Given the description of an element on the screen output the (x, y) to click on. 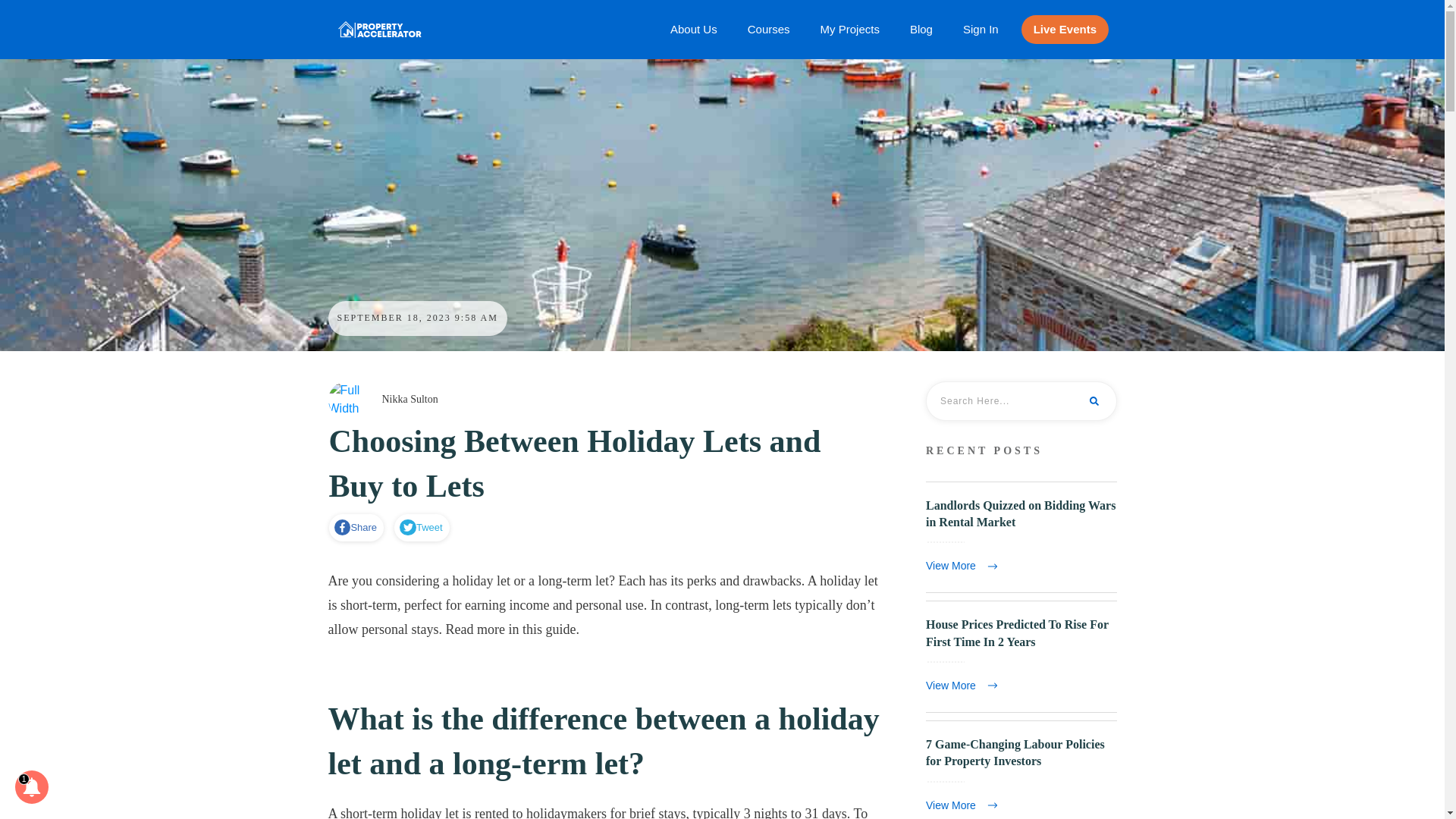
Choosing Between Holiday Lets and Buy to Lets (575, 463)
Courses (769, 29)
Tweet (420, 527)
View More (964, 685)
Live Events (1064, 29)
View More (964, 566)
Choosing Between Holiday Lets and Buy to Lets (575, 463)
Sign In (980, 29)
Share (355, 527)
Landlords Quizzed on Bidding Wars in Rental Market (1020, 513)
My Projects (850, 29)
Landlords Quizzed on Bidding Wars in Rental Market (1021, 537)
House Prices Predicted To Rise For First Time In 2 Years (1017, 632)
Blog (921, 29)
Full Width Featured Image With Sidebar (346, 399)
